Given the description of an element on the screen output the (x, y) to click on. 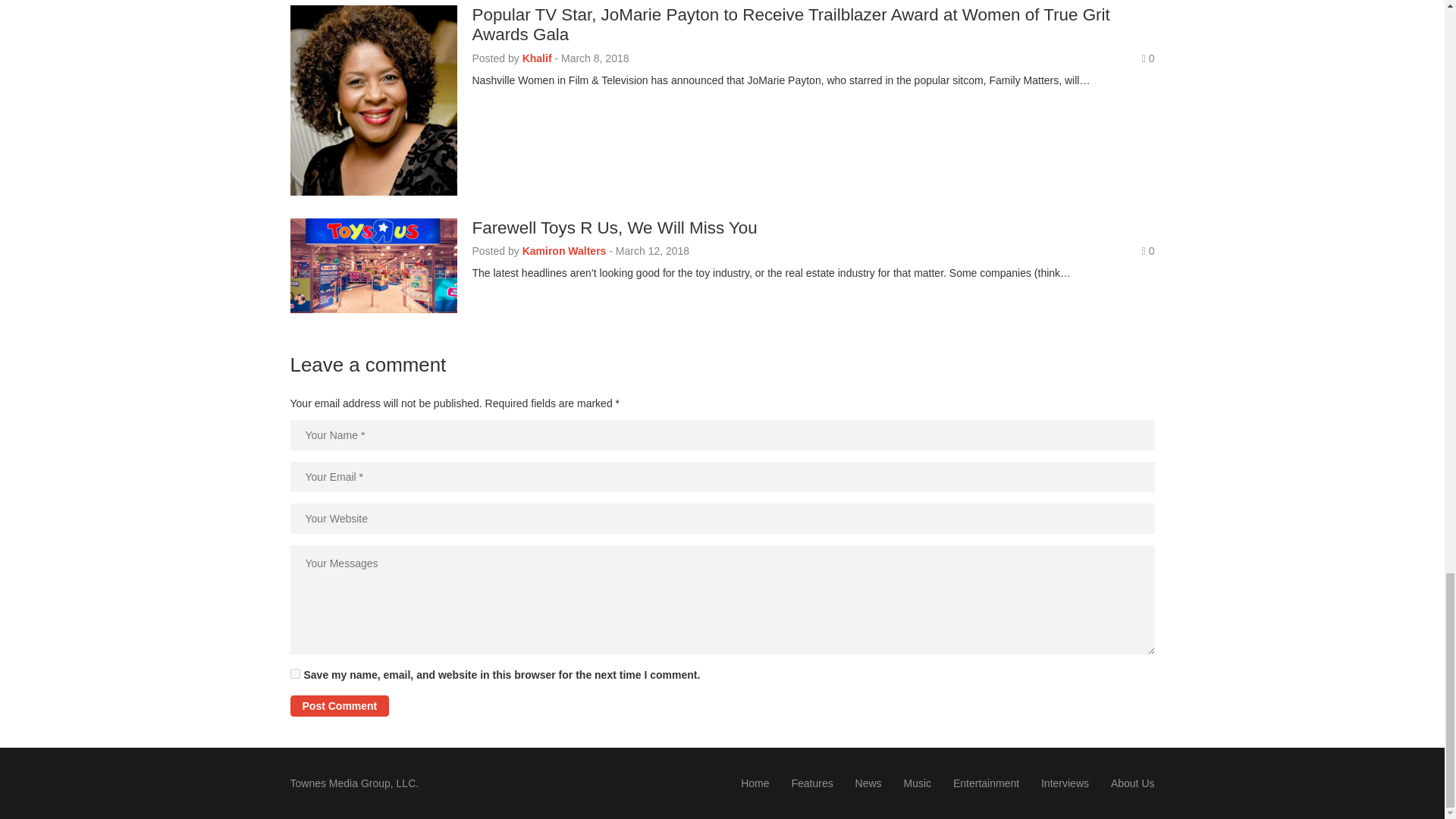
Posts by Khalif (536, 58)
yes (294, 673)
Posts by Kamiron Walters (564, 250)
Post Comment (338, 705)
